Given the description of an element on the screen output the (x, y) to click on. 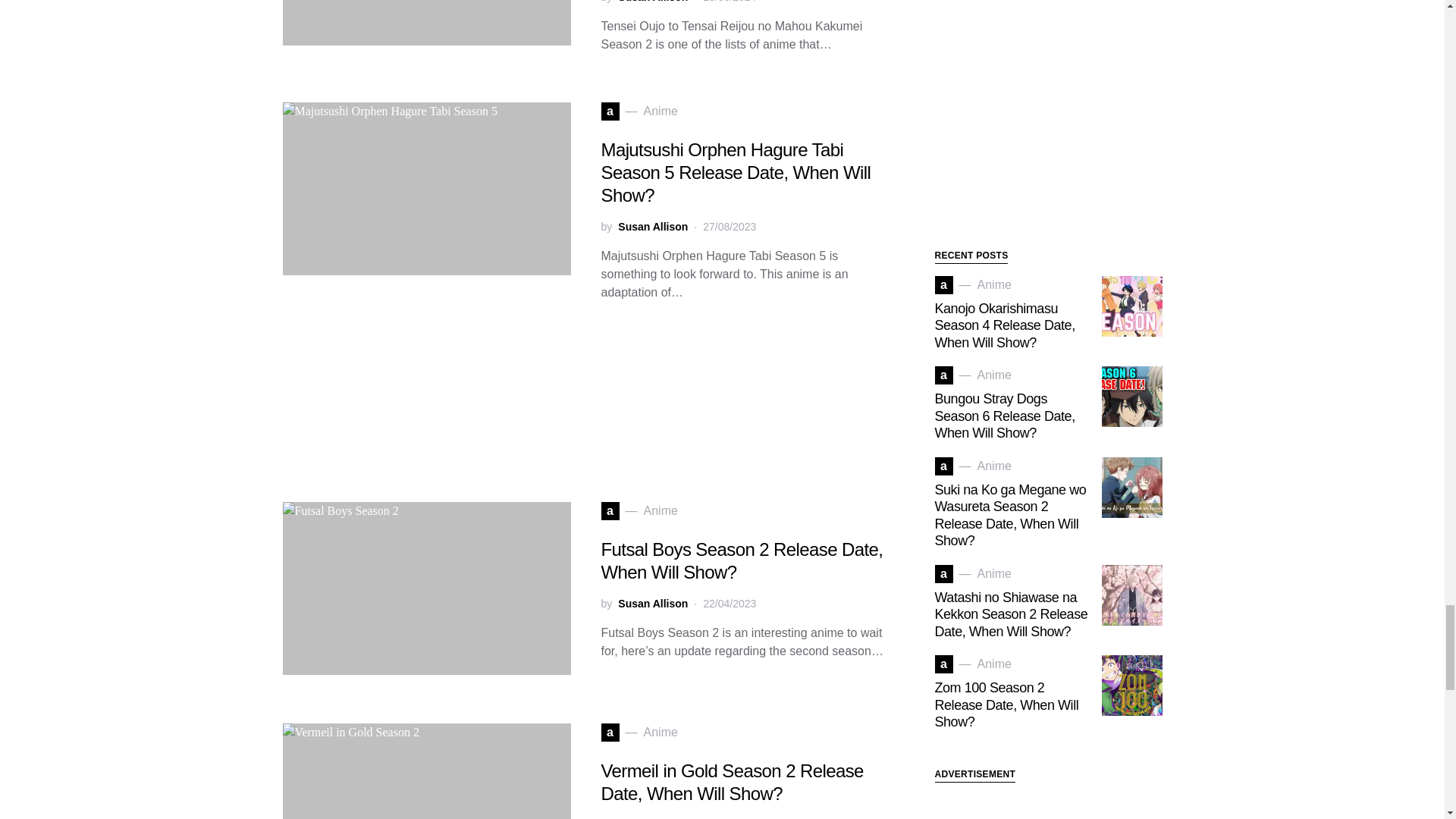
View all posts by Susan Allison (652, 818)
View all posts by Susan Allison (652, 227)
View all posts by Susan Allison (652, 603)
View all posts by Susan Allison (652, 2)
